Given the description of an element on the screen output the (x, y) to click on. 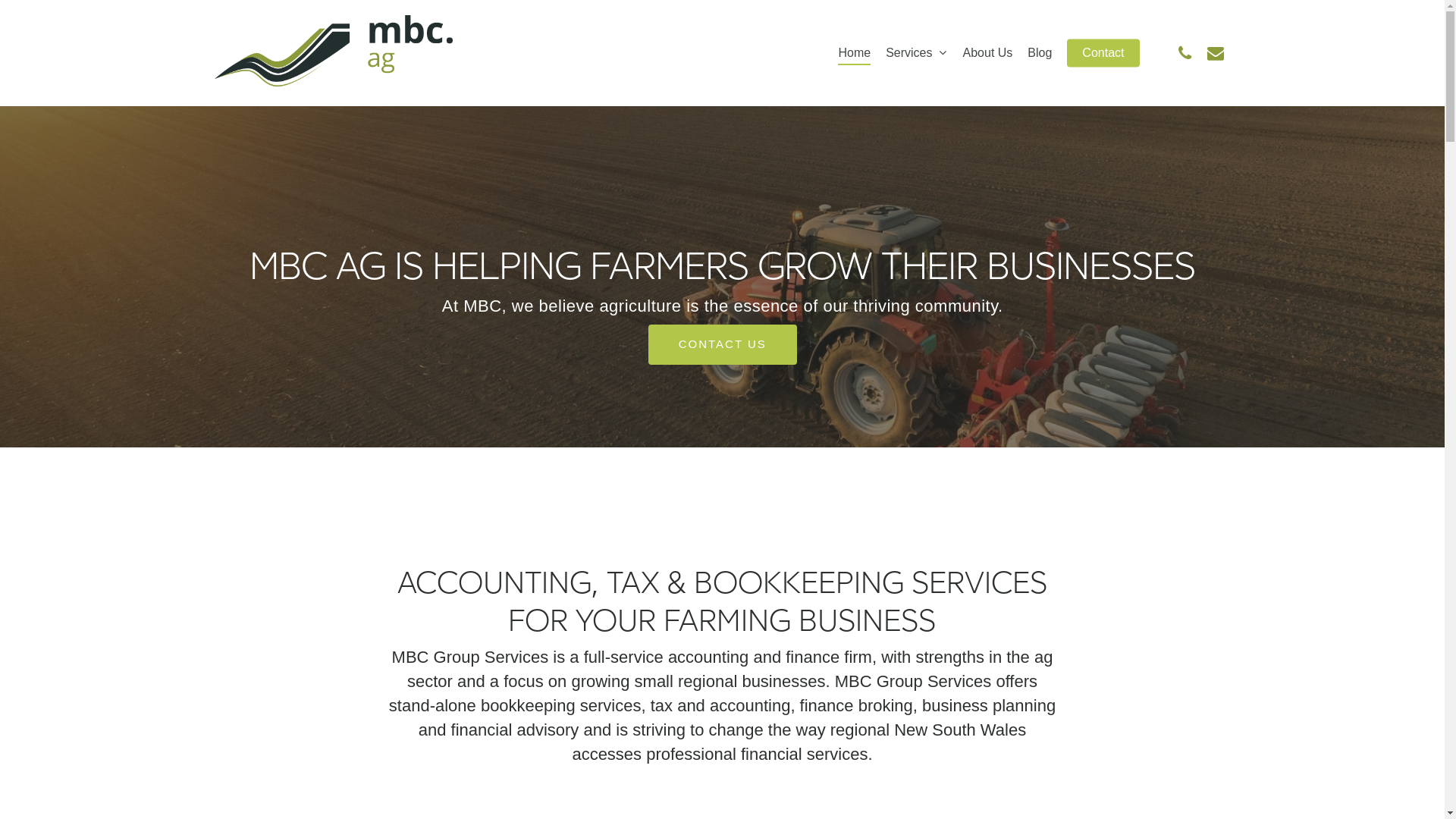
Blog Element type: text (1039, 52)
Home Element type: text (853, 52)
About Us Element type: text (988, 52)
CONTACT US Element type: text (722, 344)
Contact Element type: text (1102, 52)
Services Element type: text (916, 52)
